Given the description of an element on the screen output the (x, y) to click on. 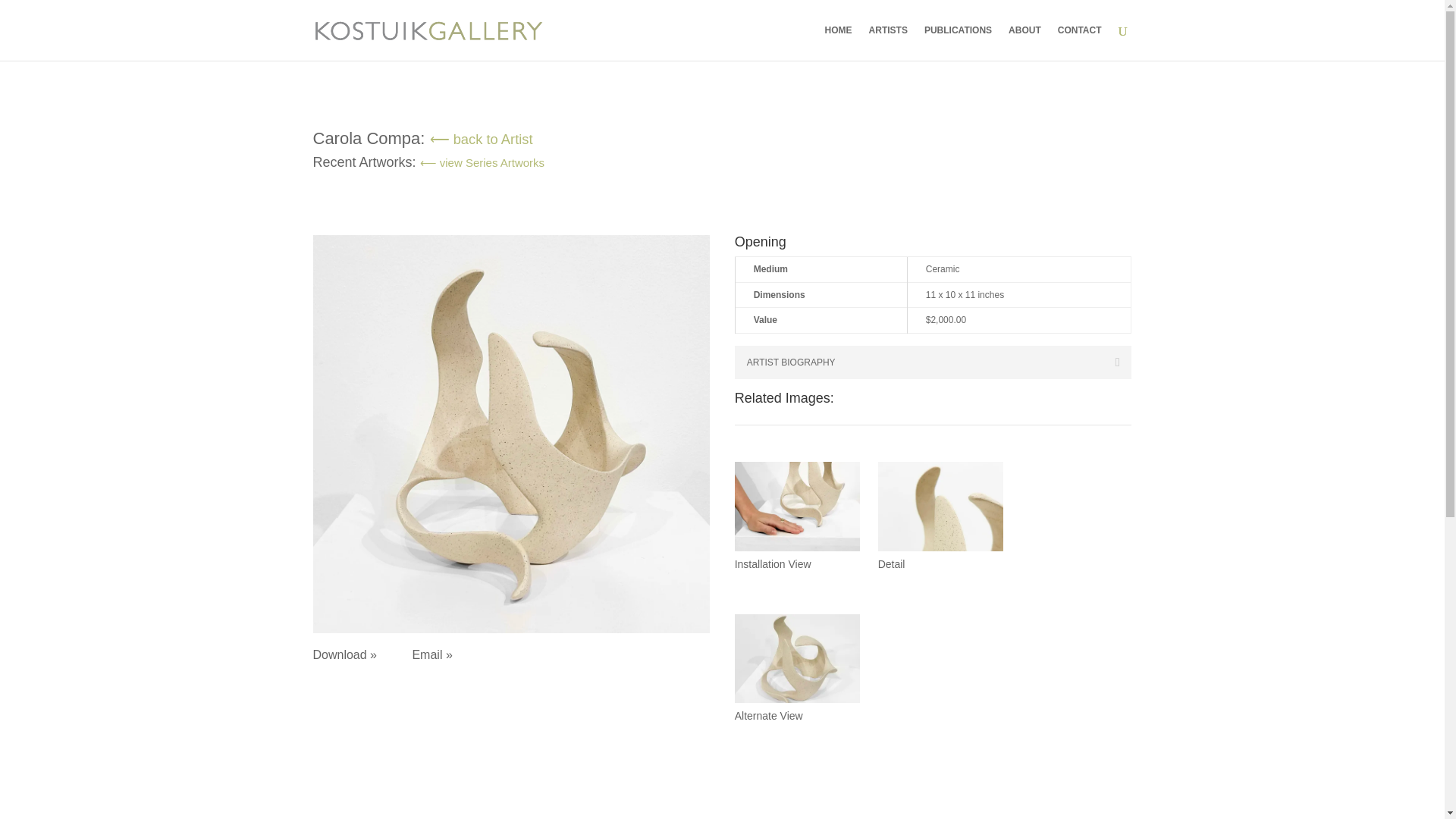
CONTACT (1080, 42)
view Series Artworks (482, 162)
ARTISTS (888, 42)
Alternate View (797, 702)
Detail (940, 551)
back to Artist (480, 139)
Installation View (797, 551)
ABOUT (1025, 42)
PUBLICATIONS (957, 42)
